Given the description of an element on the screen output the (x, y) to click on. 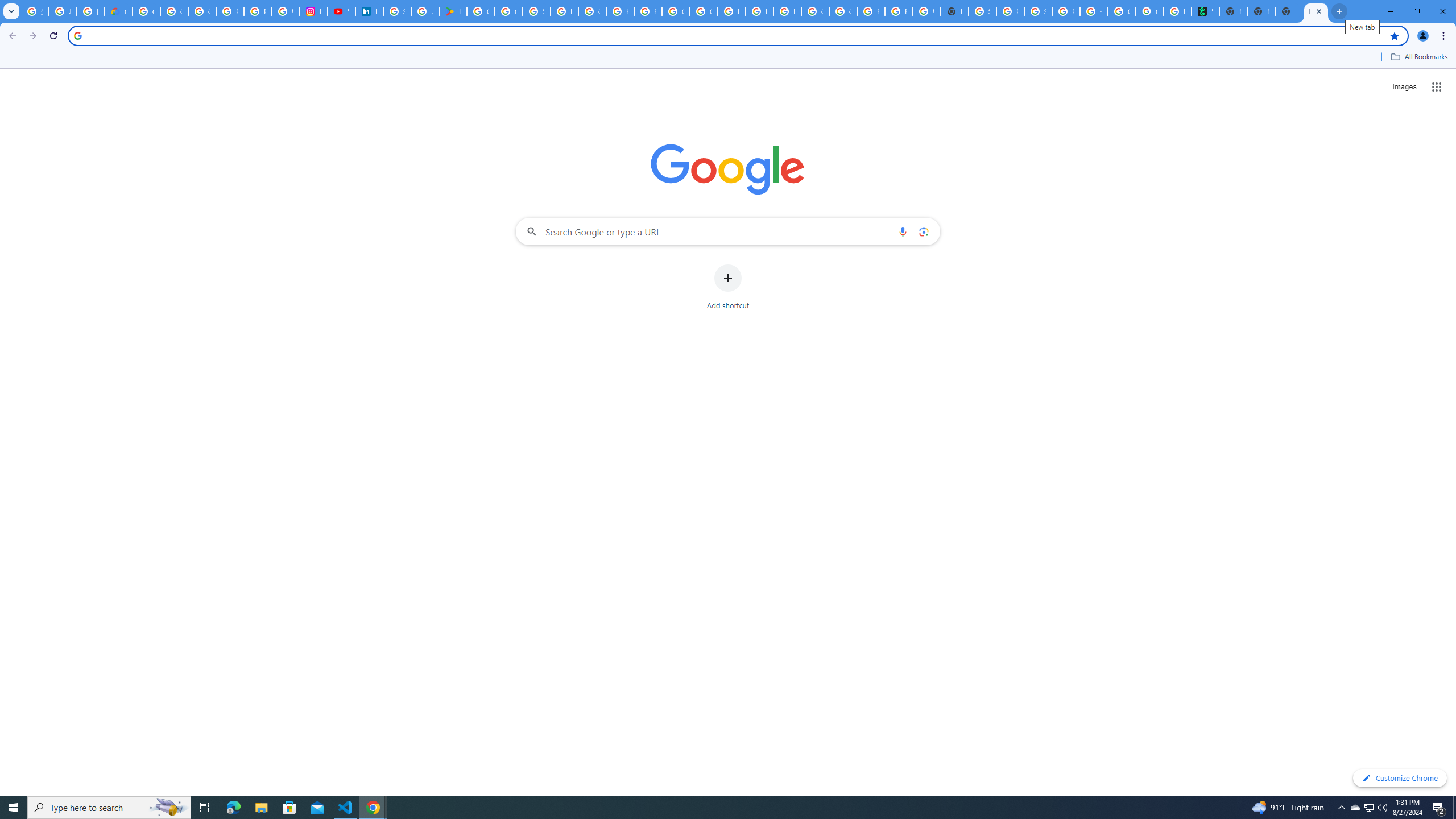
Last Shelter: Survival - Apps on Google Play (452, 11)
Search for Images  (1403, 87)
Bookmarks (728, 58)
